Given the description of an element on the screen output the (x, y) to click on. 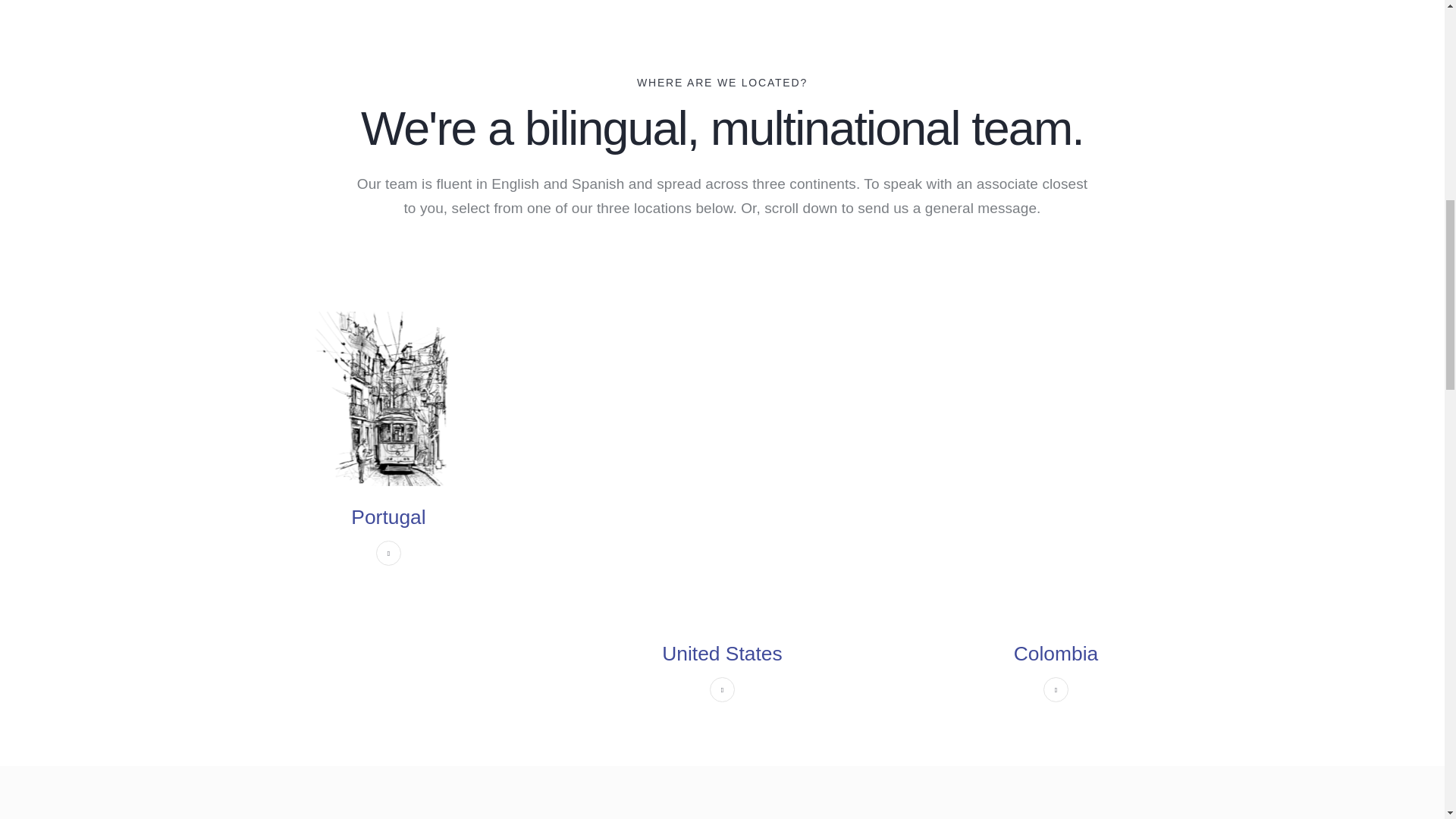
Portugal (388, 517)
United States (721, 654)
Colombia (1055, 654)
